Given the description of an element on the screen output the (x, y) to click on. 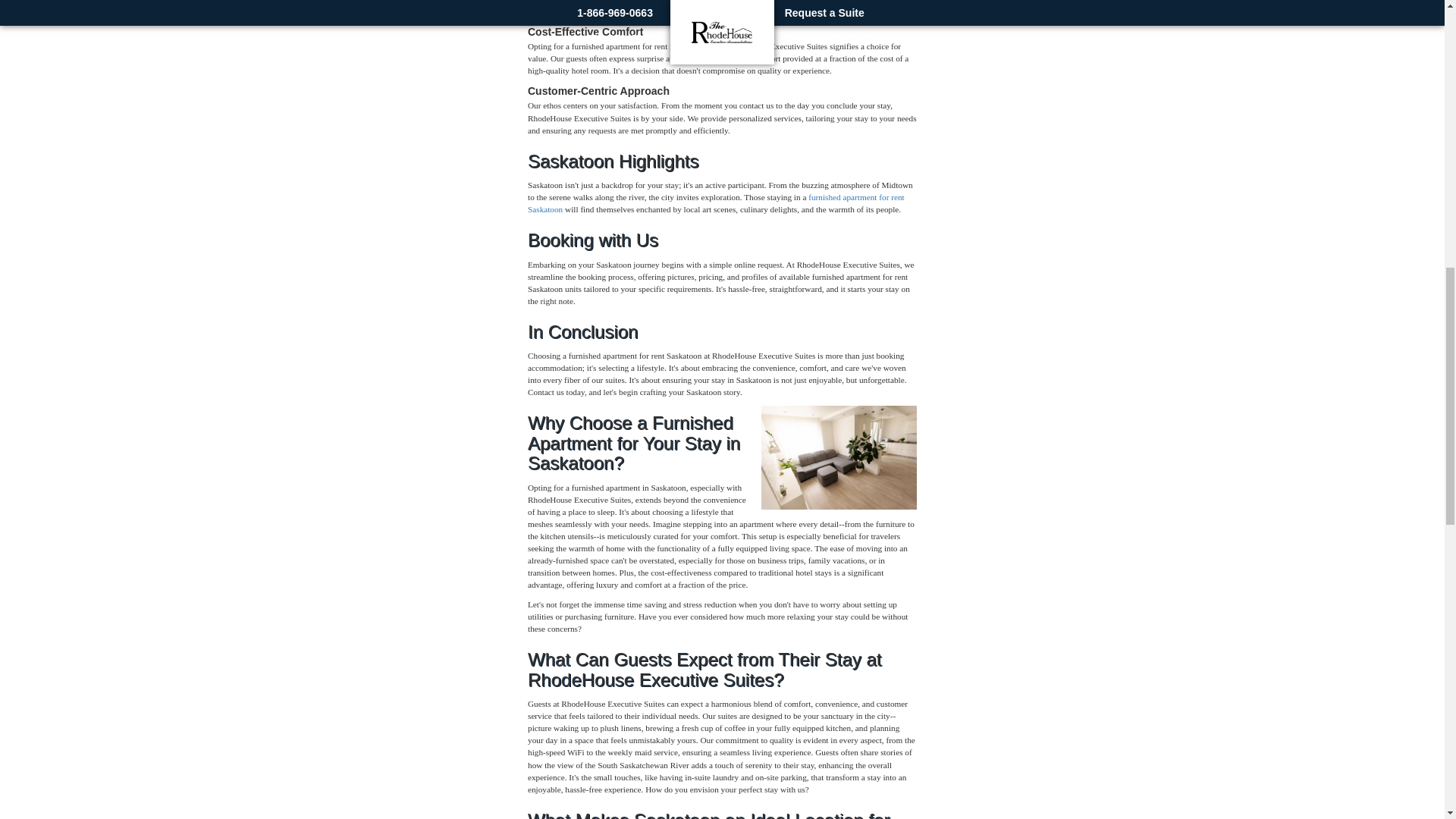
furnished apartment for rent Saskatoon (715, 202)
